Given the description of an element on the screen output the (x, y) to click on. 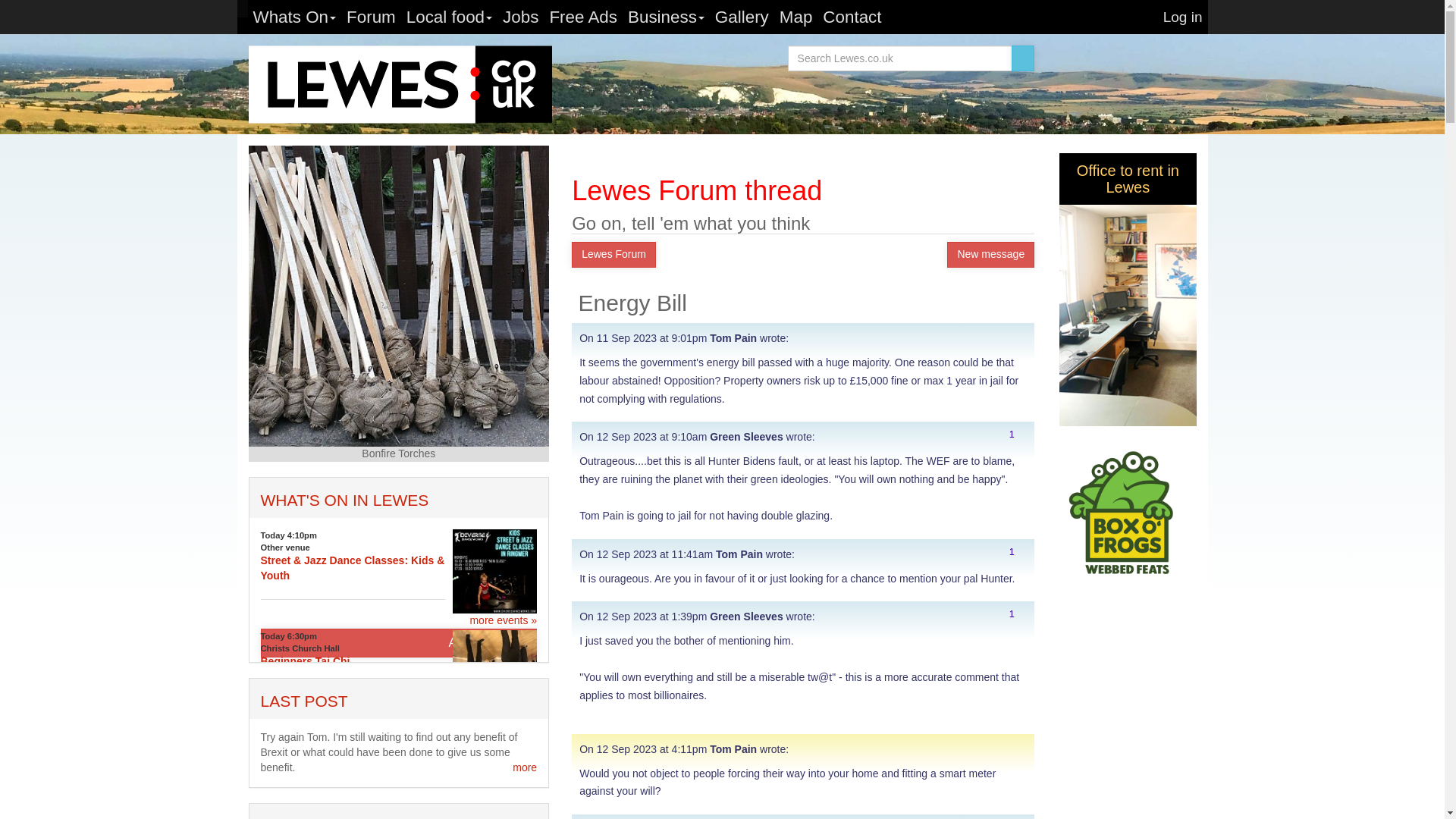
Map (796, 17)
Bonfire Torches (399, 295)
Gallery (742, 17)
Log in (1182, 17)
Local food (449, 17)
More upcoming events (502, 620)
View the Lewes Whats on Calendar (344, 499)
Jobs (520, 17)
Whats On (293, 17)
View the Lewes Forum (303, 701)
Contact (851, 17)
Business (666, 17)
Free Ads (583, 17)
Forum (370, 17)
